Given the description of an element on the screen output the (x, y) to click on. 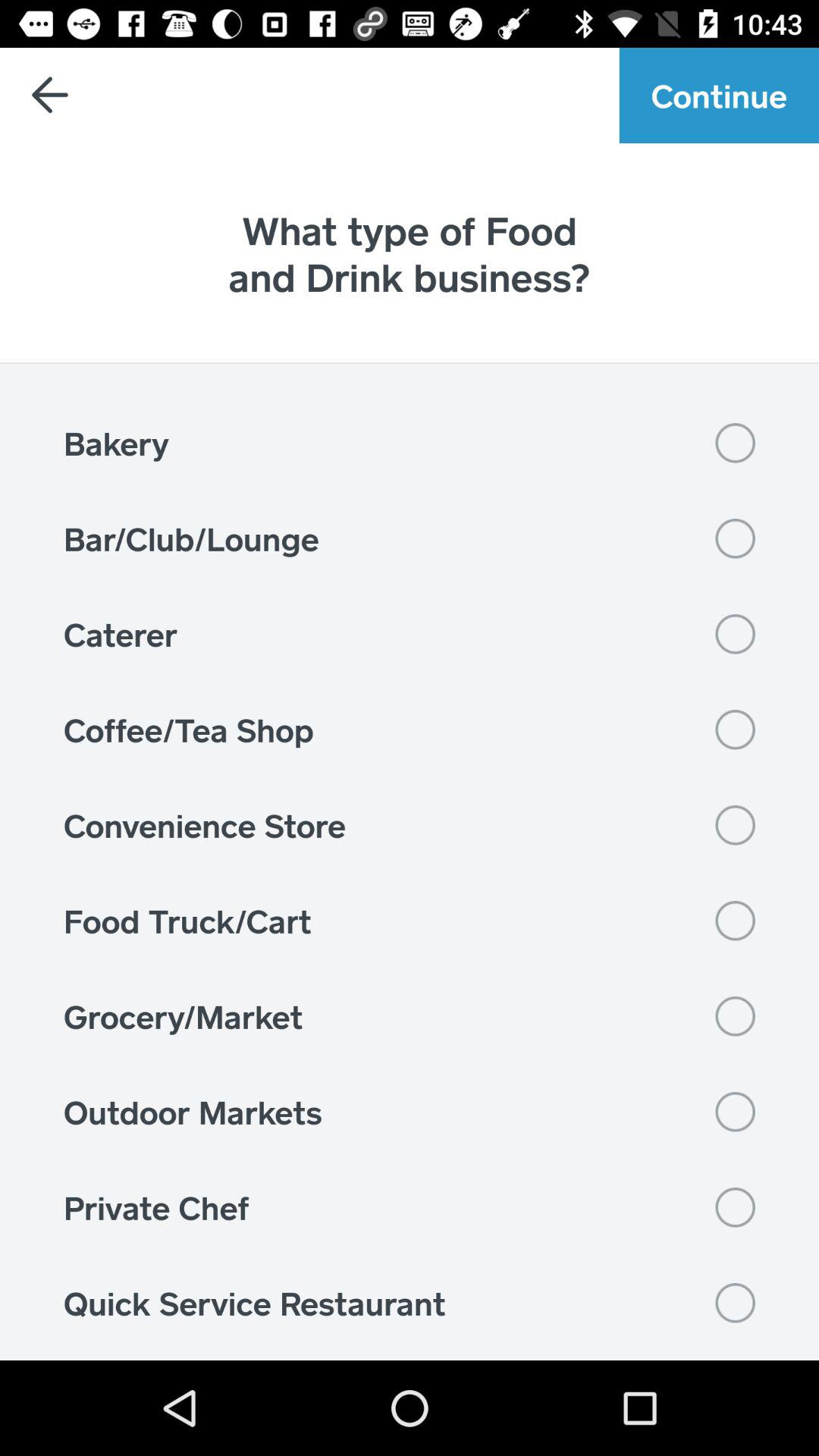
tap the item below bar/club/lounge (409, 633)
